Given the description of an element on the screen output the (x, y) to click on. 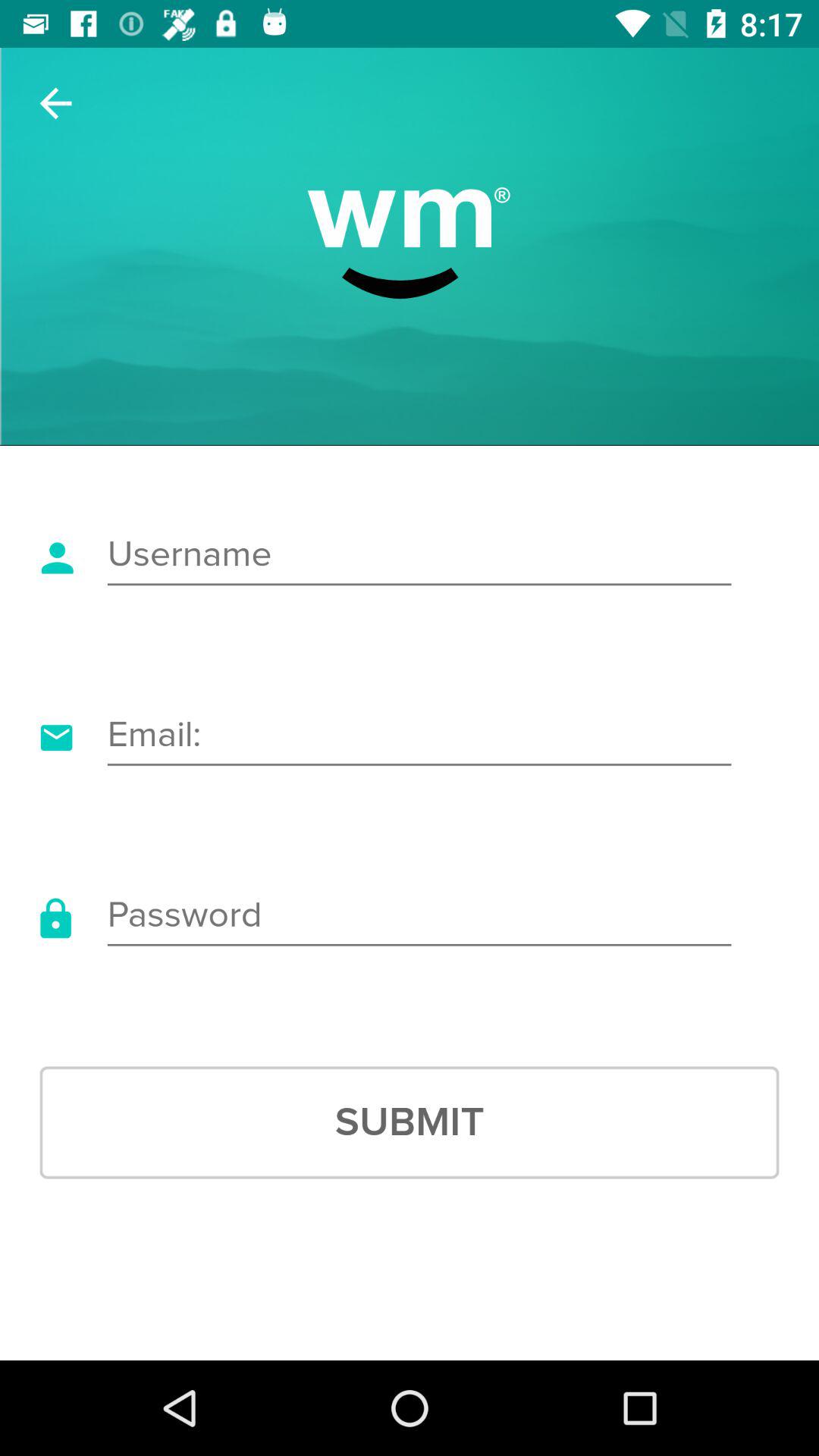
launch submit (409, 1122)
